Given the description of an element on the screen output the (x, y) to click on. 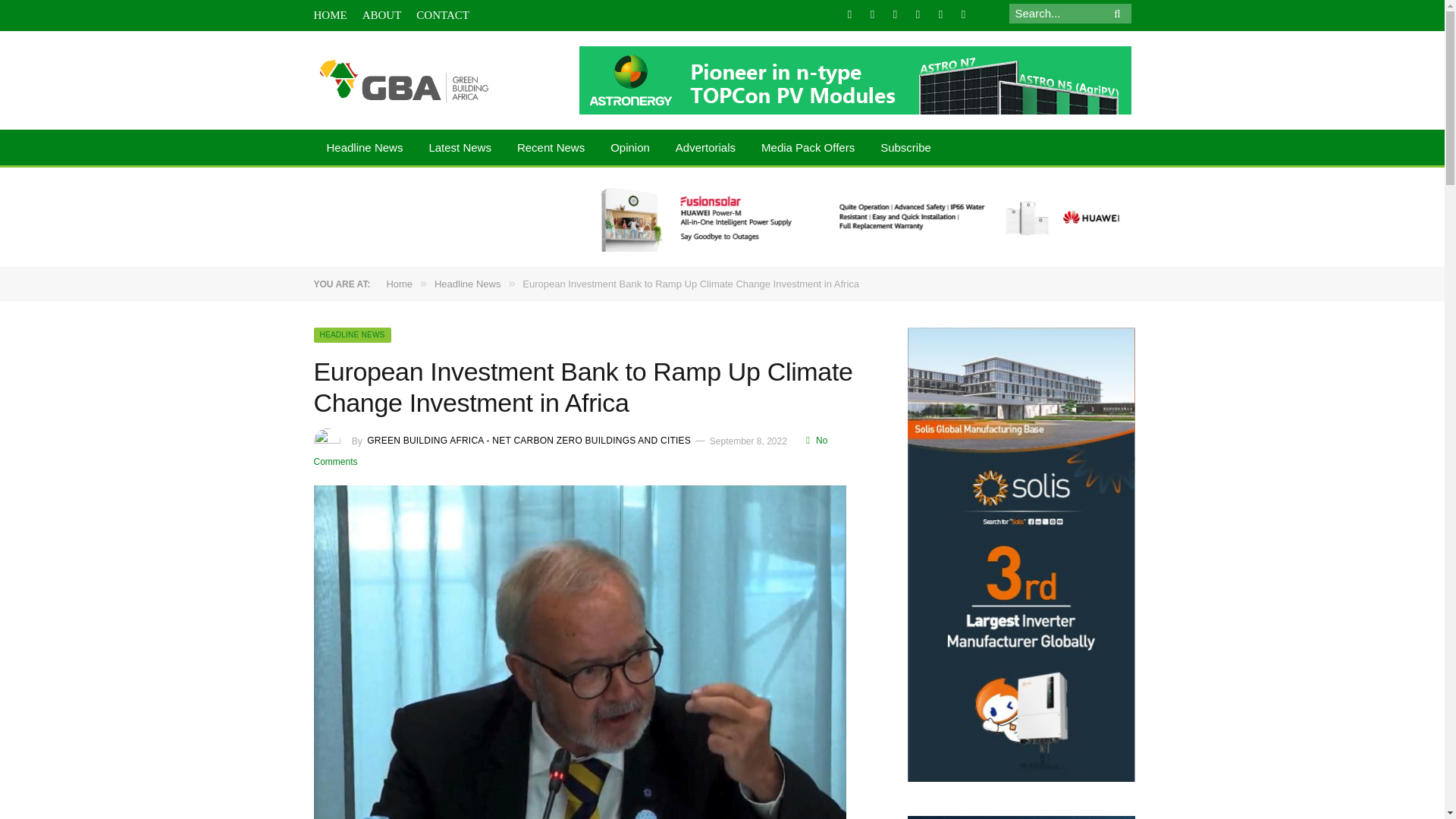
CONTACT (442, 15)
HOME (330, 15)
Twitter (871, 14)
YouTube (963, 14)
Green Building Africa (404, 79)
Latest News (458, 148)
Advertorials (705, 148)
Instagram (917, 14)
Media Pack Offers (807, 148)
Opinion (629, 148)
LinkedIn (894, 14)
Instagram (917, 14)
Facebook (849, 14)
Pinerest (940, 14)
ABOUT (381, 15)
